Given the description of an element on the screen output the (x, y) to click on. 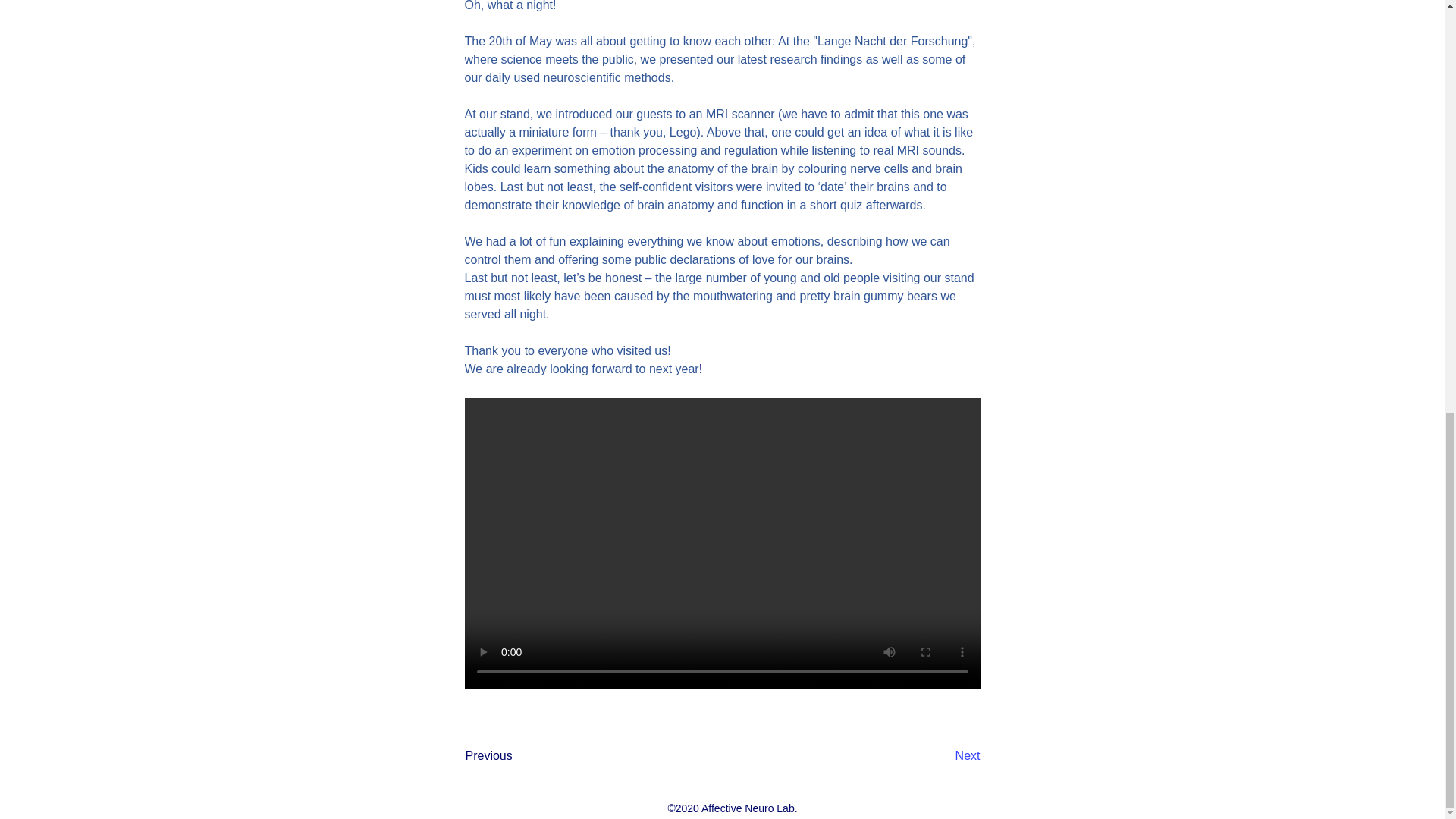
Next (941, 757)
Lange Nacht der Forschung (892, 41)
Previous (515, 757)
